Given the description of an element on the screen output the (x, y) to click on. 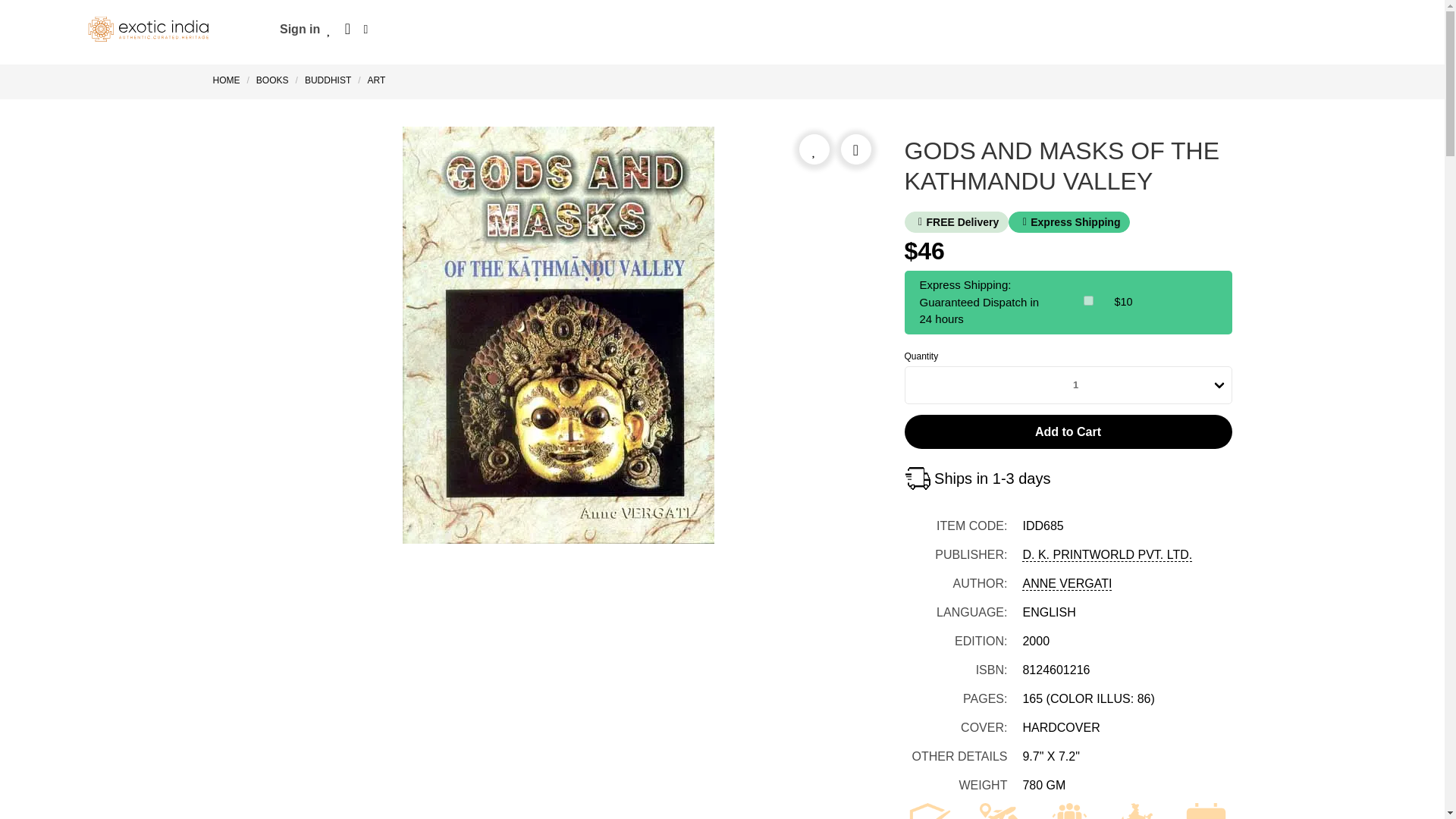
Home (229, 79)
Sign in (299, 29)
Sign in (299, 29)
Books (271, 79)
Wishlist (328, 29)
ANNE VERGATI (1067, 583)
Add to Cart (1067, 431)
Buddhist (328, 79)
ART (377, 79)
